Given the description of an element on the screen output the (x, y) to click on. 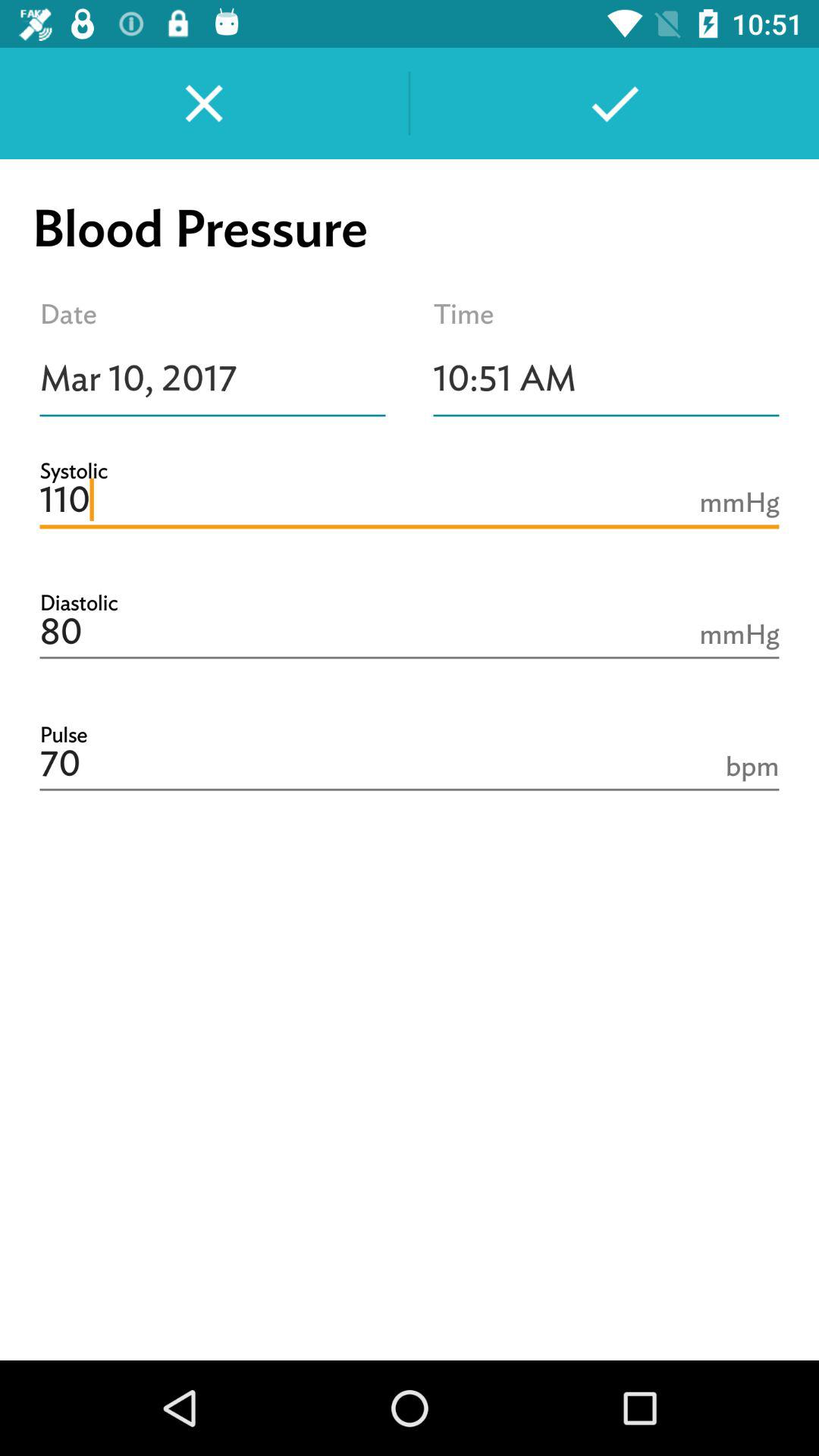
open item above the 80 (409, 500)
